Given the description of an element on the screen output the (x, y) to click on. 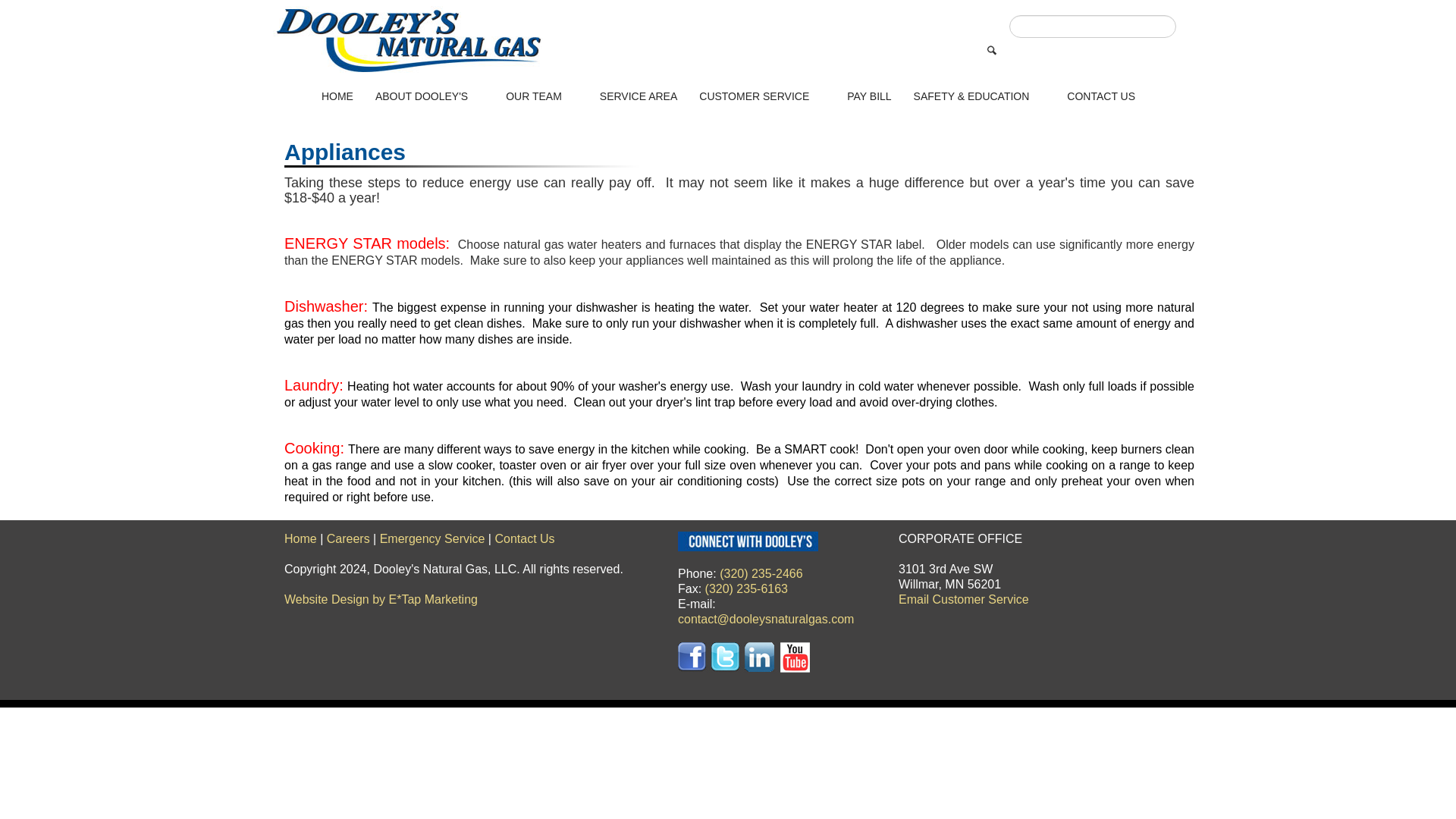
CUSTOMER SERVICE (761, 95)
Email Customer Service (963, 599)
HOME (337, 95)
Search (991, 50)
Contact Us (524, 538)
PAY BILL (868, 95)
Home (300, 538)
CONTACT US (1100, 95)
Emergency Service (432, 538)
SERVICE AREA (637, 95)
